Given the description of an element on the screen output the (x, y) to click on. 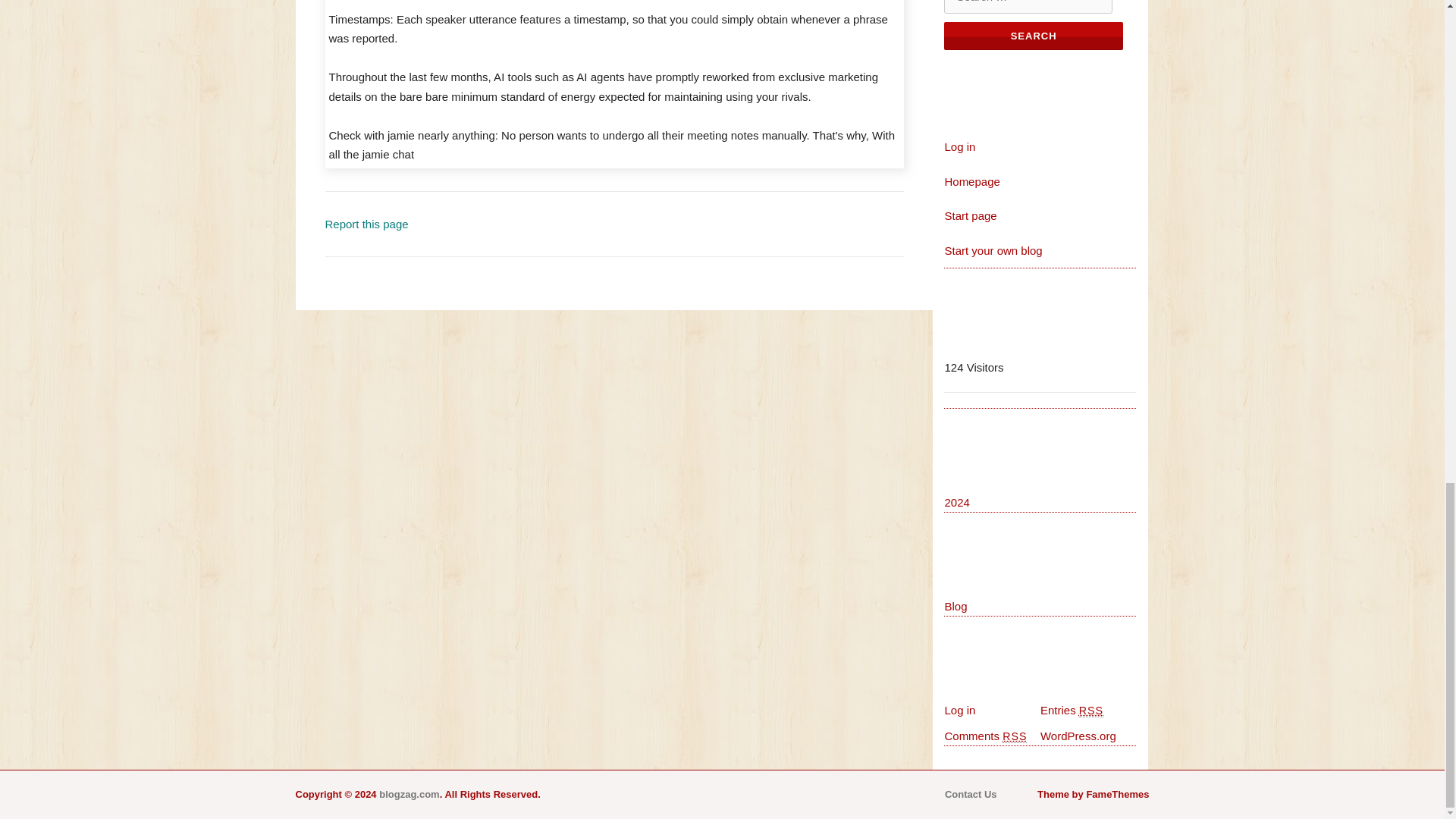
WordPress.org (1078, 735)
Search (1032, 35)
Entries RSS (1072, 709)
Homepage (970, 181)
Comments RSS (984, 735)
Start page (969, 215)
Really Simple Syndication (1014, 736)
Blog (954, 605)
Search (1032, 35)
Log in (959, 709)
Start your own blog (992, 250)
Search (1032, 35)
Really Simple Syndication (1090, 710)
Report this page (365, 223)
